Given the description of an element on the screen output the (x, y) to click on. 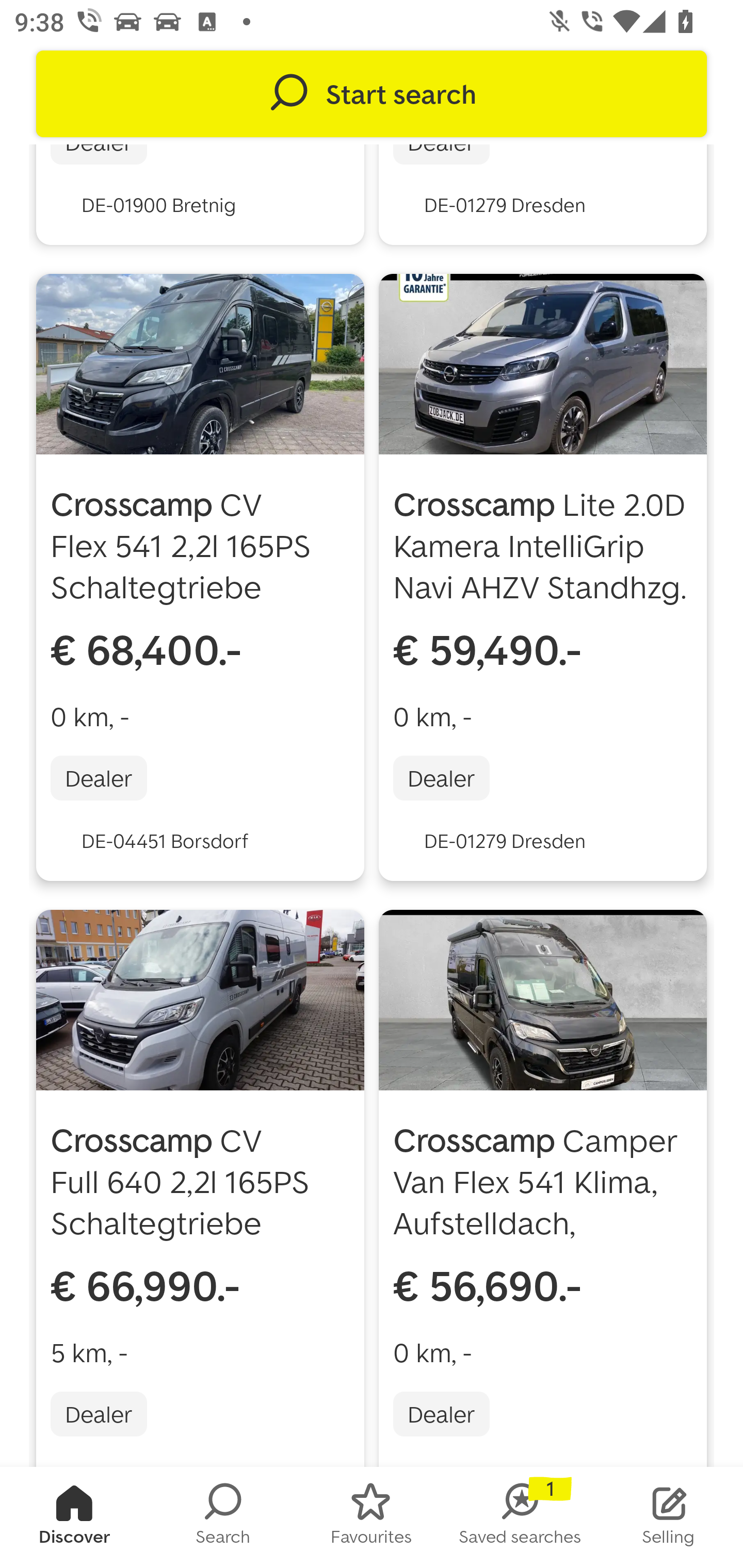
Start search (371, 93)
HOMESCREEN Discover (74, 1517)
SEARCH Search (222, 1517)
FAVORITES Favourites (371, 1517)
SAVED_SEARCHES Saved searches 1 (519, 1517)
STOCK_LIST Selling (668, 1517)
